Given the description of an element on the screen output the (x, y) to click on. 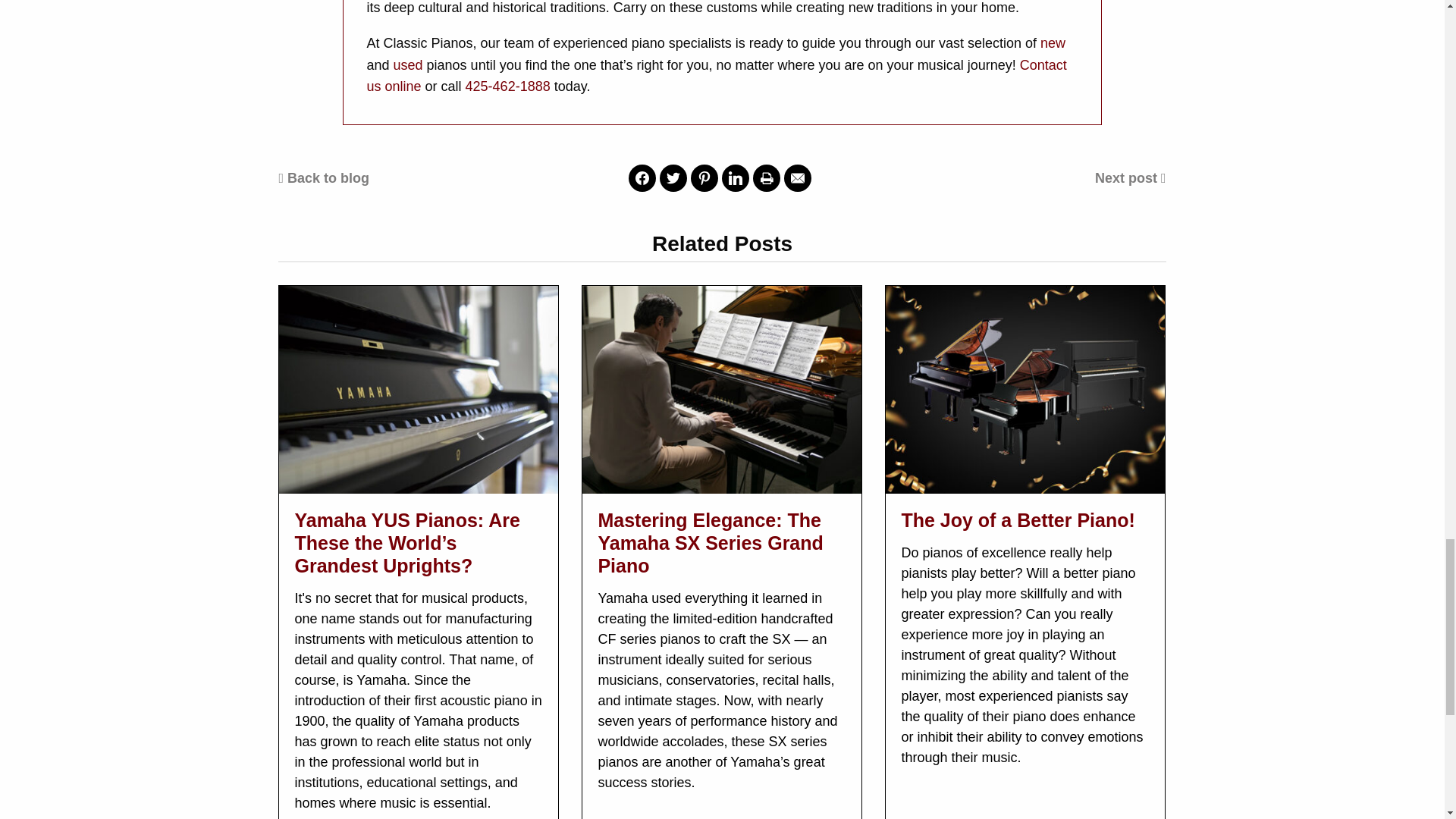
Mastering Elegance: The Yamaha SX Series Grand Piano (721, 389)
Share on Twitter (673, 177)
Mastering Elegance: The Yamaha SX Series Grand Piano (709, 542)
Share on Pinterest (703, 177)
Share on Facebook (642, 177)
Share on LinkedIn (735, 177)
Share on Print (766, 177)
Share on Email (797, 177)
